Given the description of an element on the screen output the (x, y) to click on. 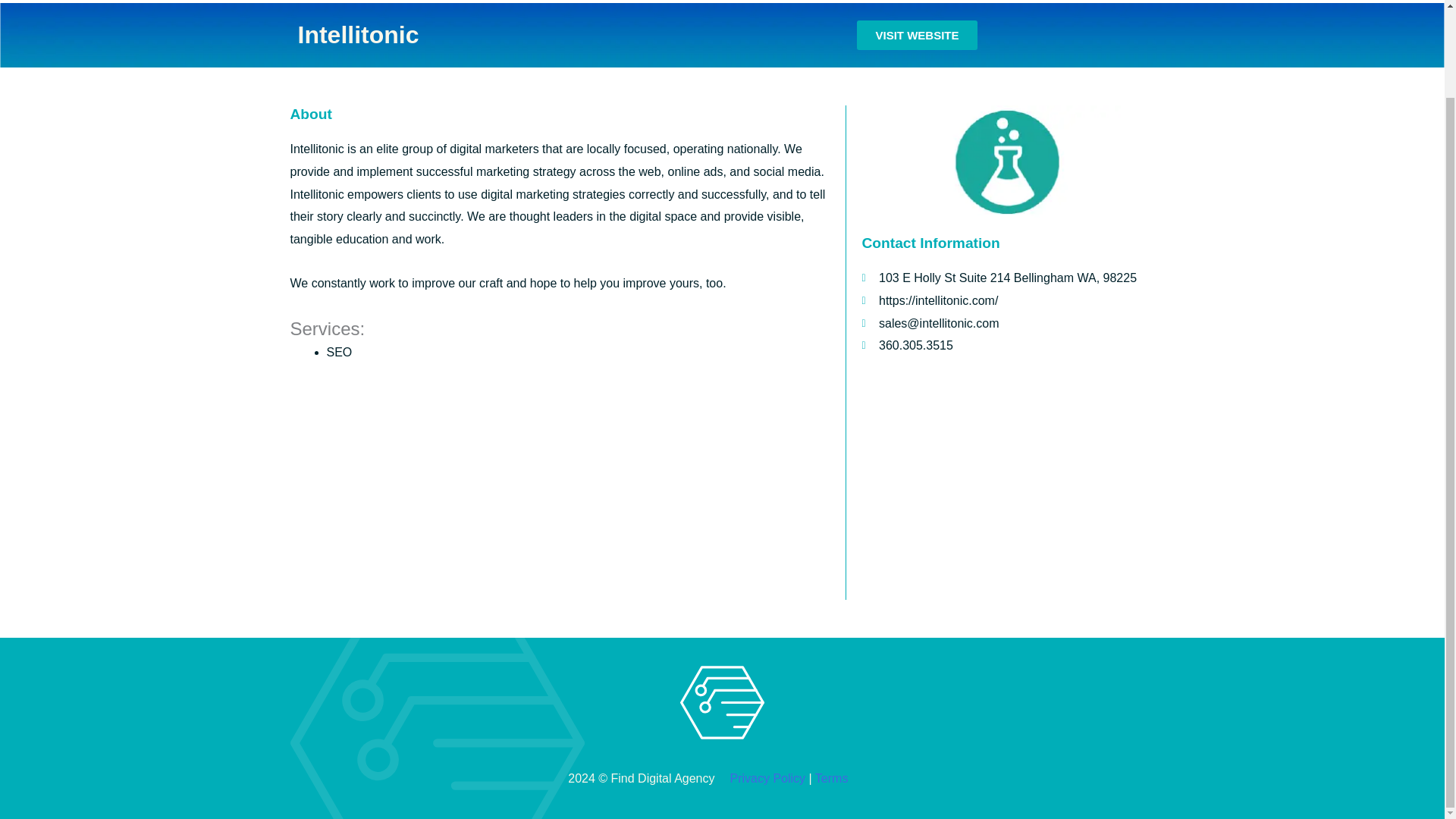
103 E Holly St Suite 214 Bellingham WA, 98225 (1007, 485)
